Given the description of an element on the screen output the (x, y) to click on. 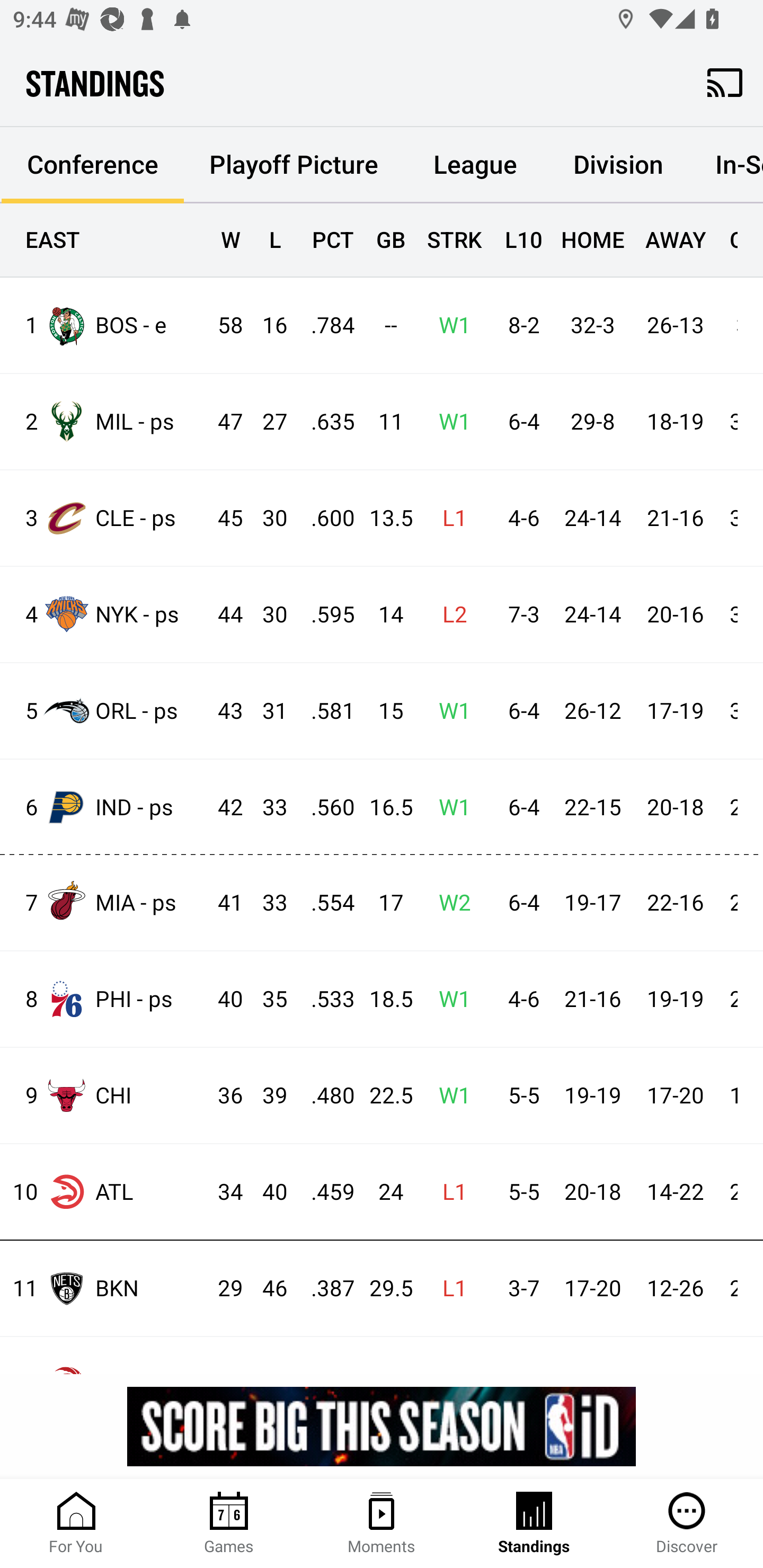
Cast. Disconnected (724, 82)
Playoff Picture (293, 165)
League (475, 165)
Division (618, 165)
1 BOS - e (104, 325)
16 (265, 324)
.784 (323, 324)
-- (382, 324)
W1 (449, 324)
8-2 (518, 324)
32-3 (592, 324)
26-13 (675, 324)
2 MIL - ps (104, 421)
27 (265, 422)
.635 (323, 422)
11 (382, 422)
W1 (449, 422)
6-4 (518, 422)
29-8 (592, 422)
18-19 (675, 422)
3 CLE - ps (104, 518)
30 (265, 517)
.600 (323, 517)
13.5 (382, 517)
L1 (449, 517)
4-6 (518, 517)
24-14 (592, 517)
21-16 (675, 517)
4 NYK - ps (104, 613)
30 (265, 615)
.595 (323, 615)
14 (382, 615)
L2 (449, 615)
7-3 (518, 615)
24-14 (592, 615)
20-16 (675, 615)
5 ORL - ps (104, 710)
31 (265, 710)
.581 (323, 710)
15 (382, 710)
W1 (449, 710)
6-4 (518, 710)
26-12 (592, 710)
17-19 (675, 710)
6 IND - ps (104, 806)
33 (265, 807)
.560 (323, 807)
16.5 (382, 807)
W1 (449, 807)
6-4 (518, 807)
22-15 (592, 807)
20-18 (675, 807)
7 MIA - ps (104, 902)
33 (265, 902)
.554 (323, 902)
17 (382, 902)
W2 (449, 902)
6-4 (518, 902)
19-17 (592, 902)
22-16 (675, 902)
8 PHI - ps (104, 999)
35 (265, 999)
.533 (323, 999)
18.5 (382, 999)
W1 (449, 999)
4-6 (518, 999)
21-16 (592, 999)
19-19 (675, 999)
9 CHI (104, 1095)
39 (265, 1095)
.480 (323, 1095)
22.5 (382, 1095)
W1 (449, 1095)
5-5 (518, 1095)
19-19 (592, 1095)
17-20 (675, 1095)
10 ATL (104, 1192)
40 (265, 1192)
.459 (323, 1192)
24 (382, 1192)
L1 (449, 1192)
5-5 (518, 1192)
20-18 (592, 1192)
14-22 (675, 1192)
11 BKN (104, 1287)
46 (265, 1288)
.387 (323, 1288)
29.5 (382, 1288)
L1 (449, 1288)
3-7 (518, 1288)
17-20 (592, 1288)
12-26 (675, 1288)
For You (76, 1523)
Games (228, 1523)
Moments (381, 1523)
Discover (686, 1523)
